Given the description of an element on the screen output the (x, y) to click on. 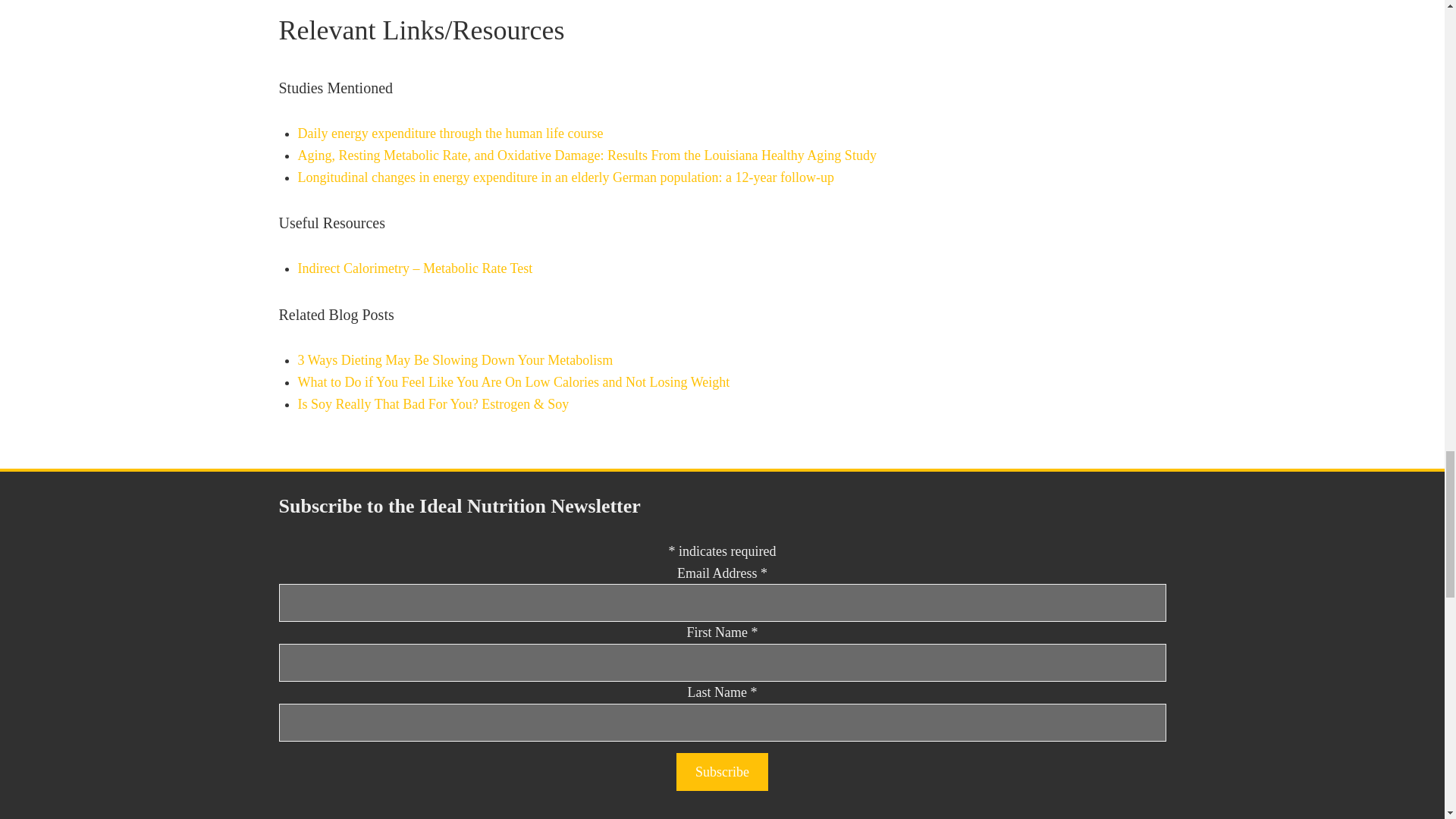
Subscribe (722, 771)
Subscribe (722, 771)
3 Ways Dieting May Be Slowing Down Your Metabolism (454, 359)
Daily energy expenditure through the human life course (449, 133)
